Given the description of an element on the screen output the (x, y) to click on. 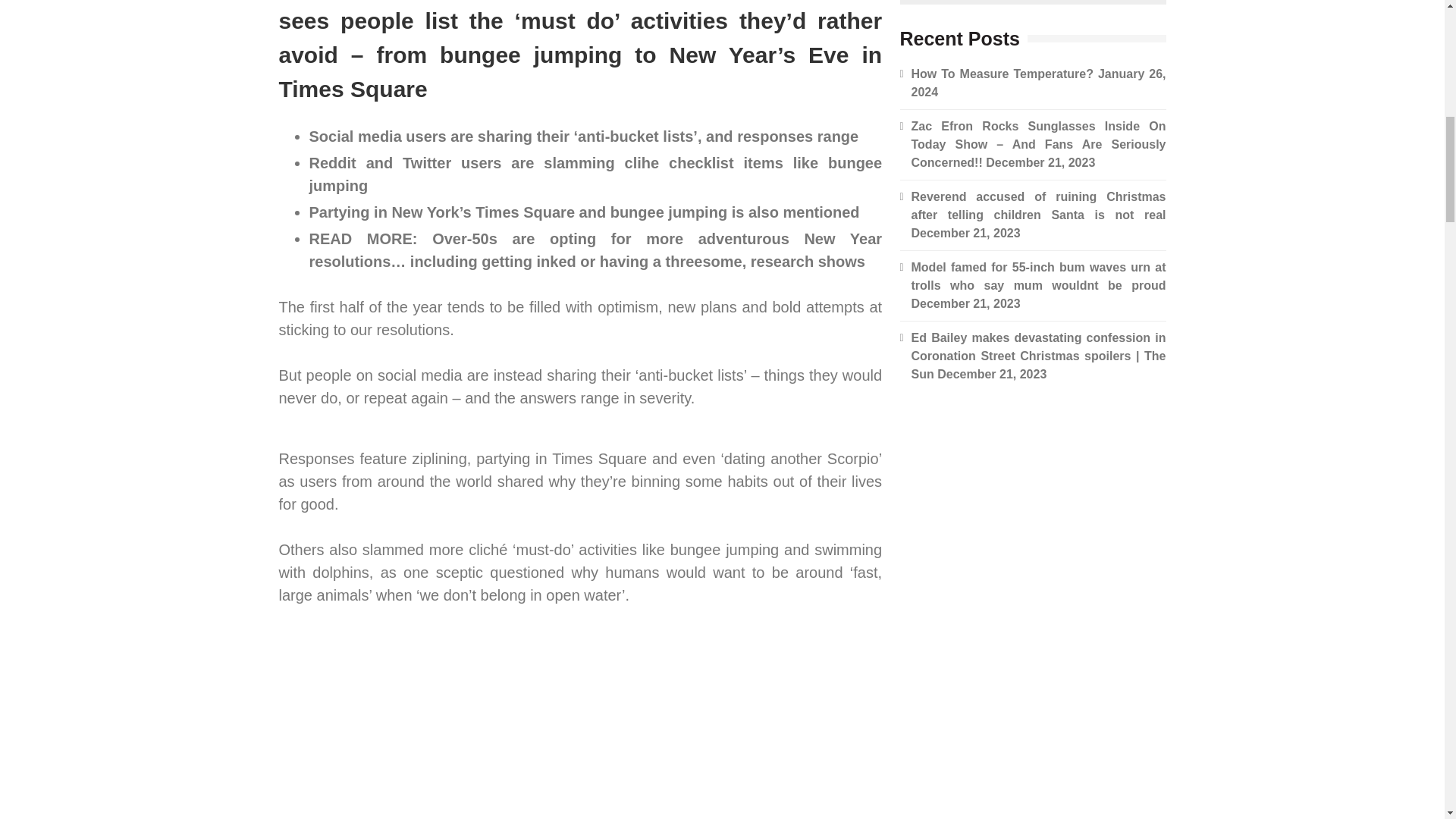
How To Measure Temperature? (1002, 73)
